Given the description of an element on the screen output the (x, y) to click on. 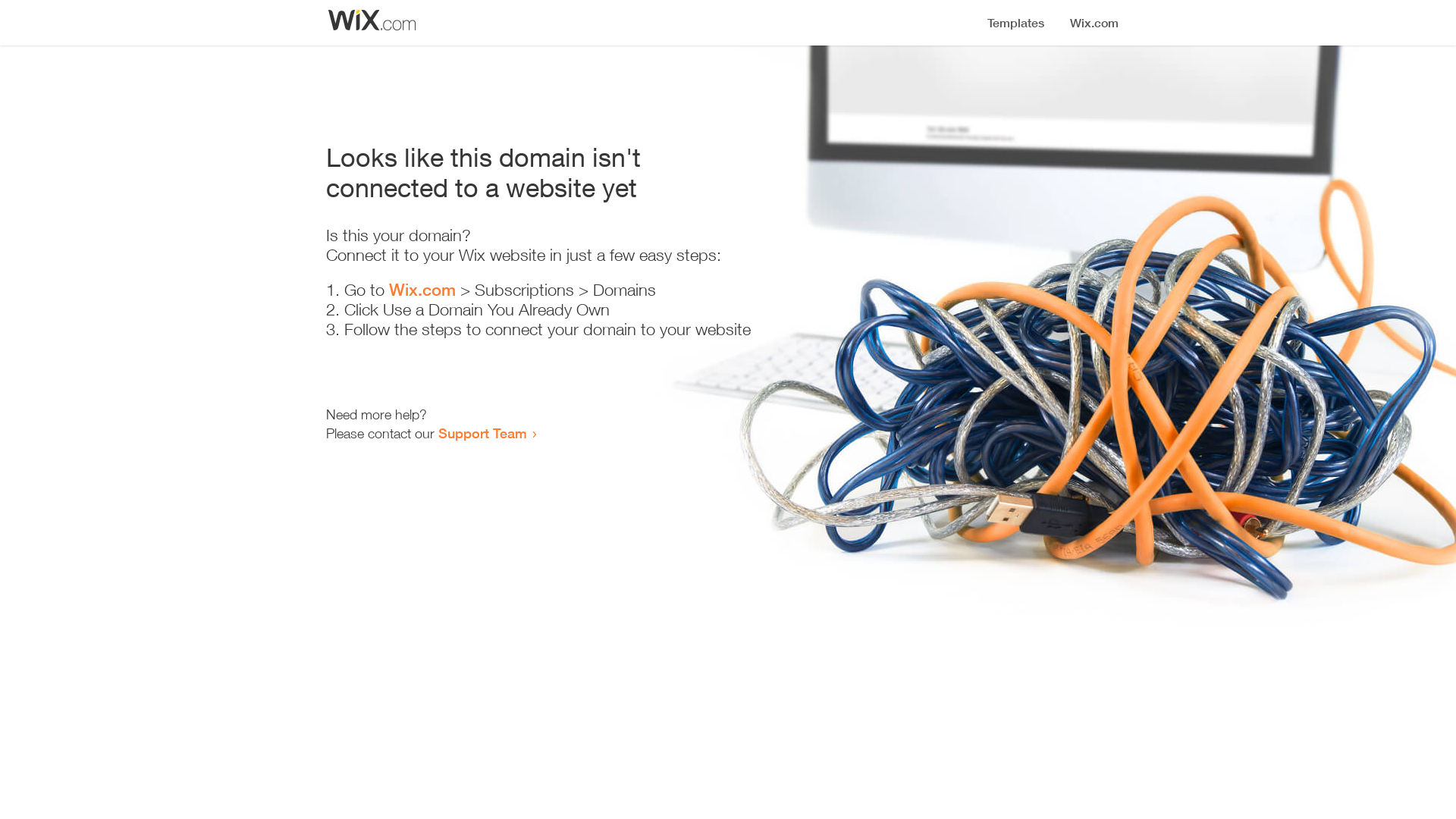
Support Team Element type: text (482, 432)
Wix.com Element type: text (422, 289)
